Given the description of an element on the screen output the (x, y) to click on. 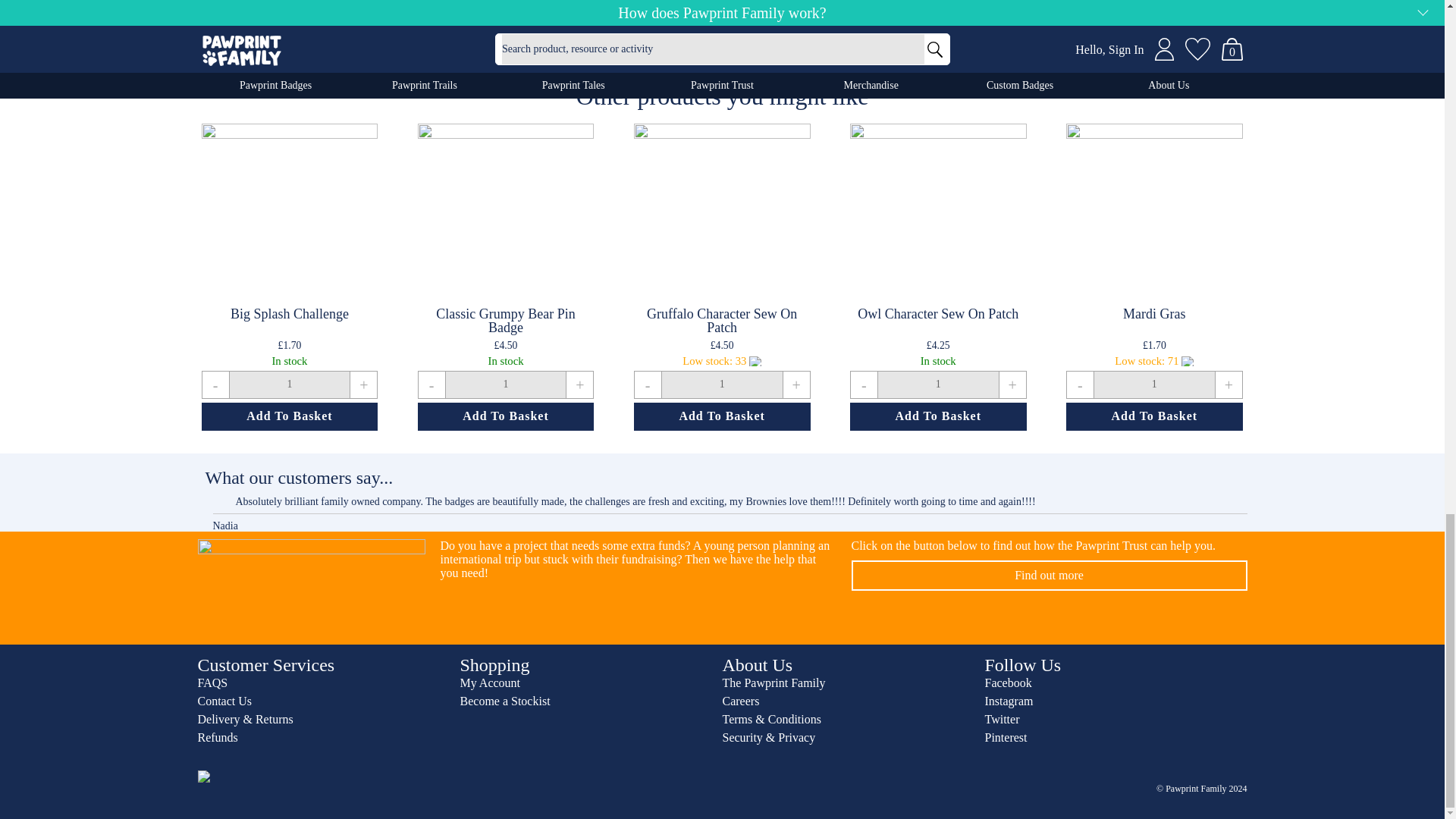
1 (288, 384)
Qty (505, 384)
1 (722, 384)
Qty (722, 384)
Qty (937, 384)
1 (505, 384)
1 (937, 384)
Qty (288, 384)
1 (1154, 384)
Qty (1154, 384)
